Given the description of an element on the screen output the (x, y) to click on. 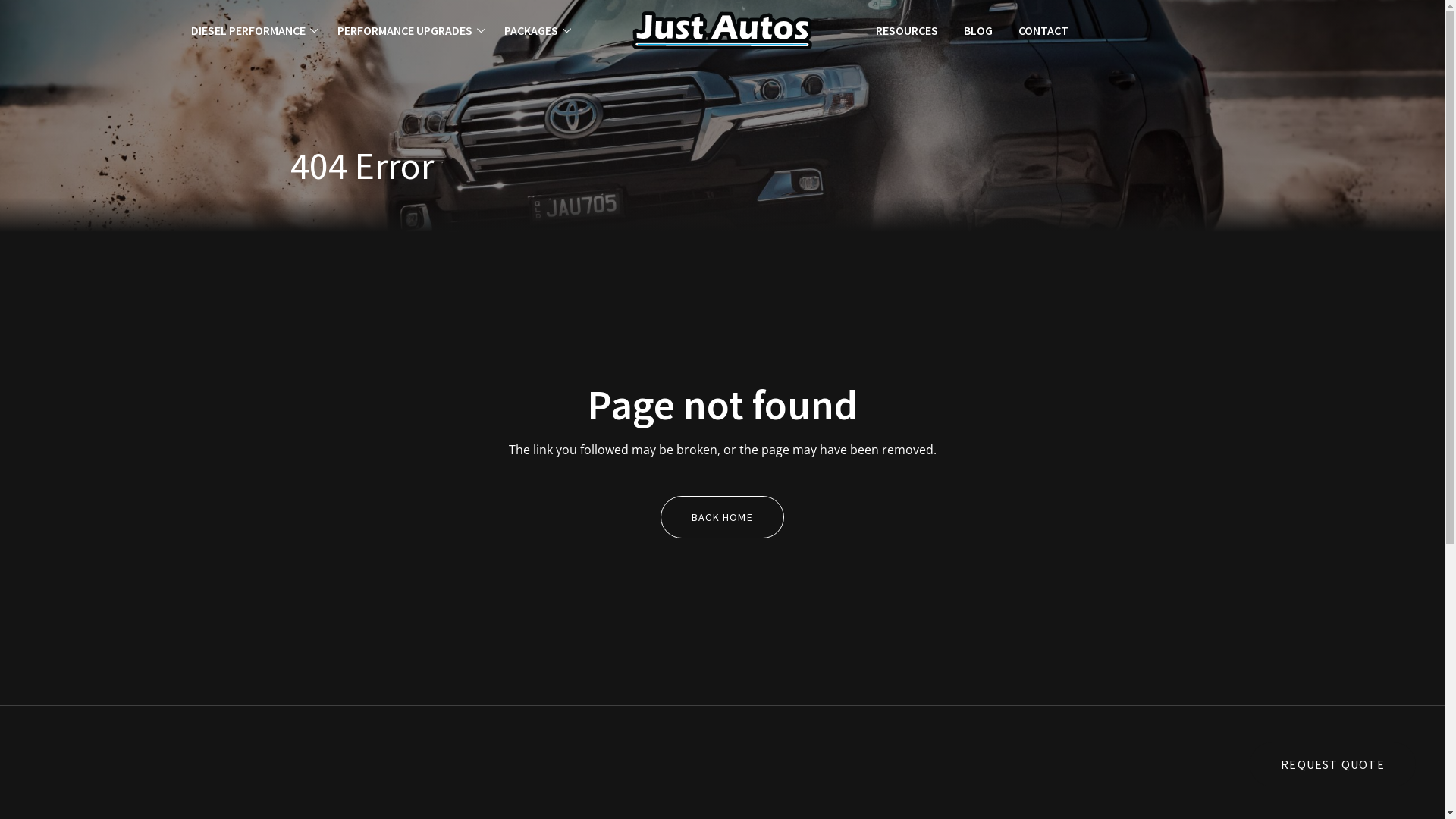
BLOG Element type: text (977, 30)
BACK HOME Element type: text (722, 516)
CONTACT Element type: text (1043, 30)
PERFORMANCE UPGRADES Element type: text (412, 30)
DIESEL PERFORMANCE Element type: text (256, 30)
REQUEST QUOTE Element type: text (1332, 764)
RESOURCES Element type: text (906, 30)
PACKAGES Element type: text (538, 30)
